Given the description of an element on the screen output the (x, y) to click on. 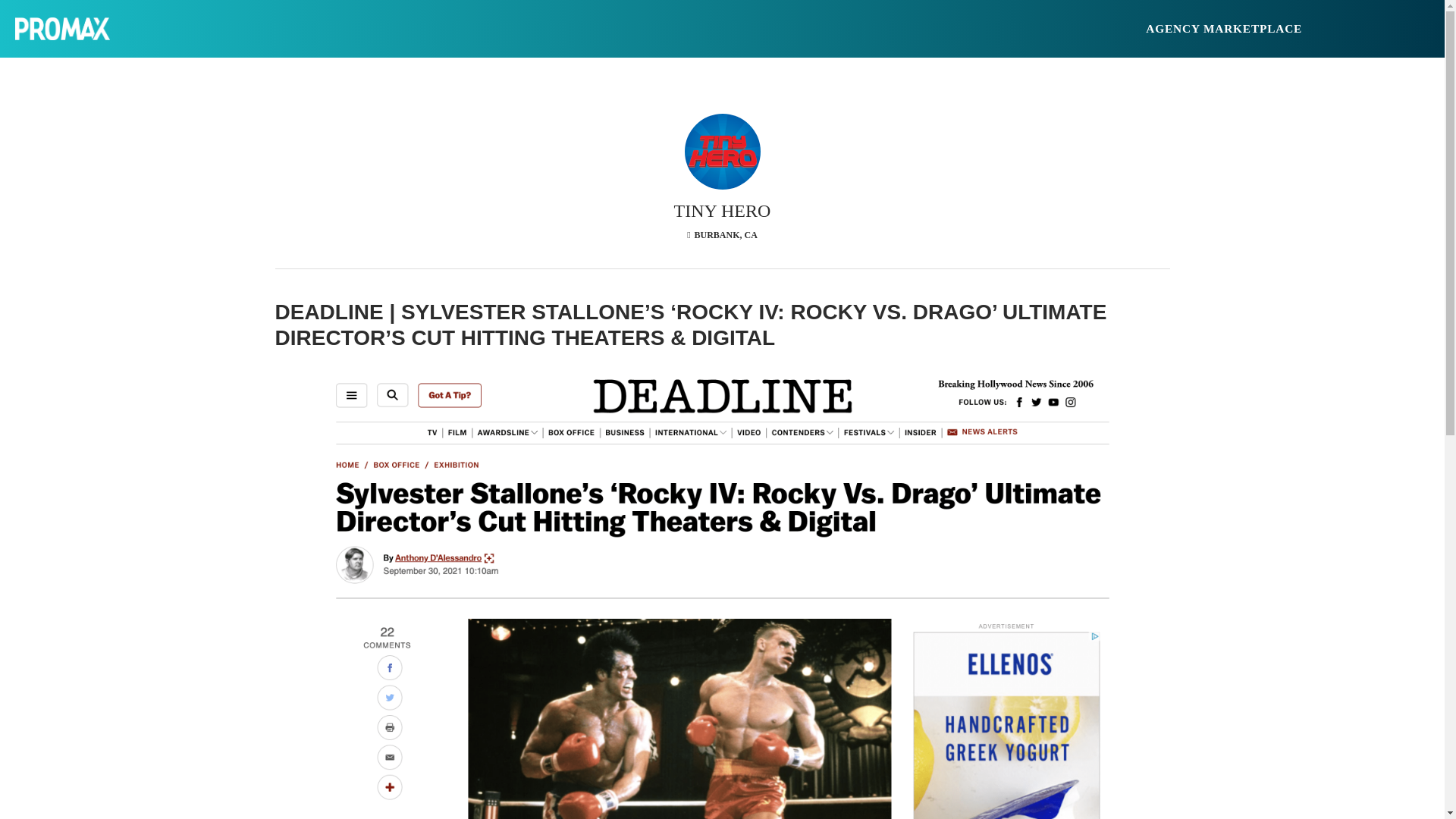
TINY HERO (722, 206)
AGENCY MARKETPLACE (1223, 28)
